Given the description of an element on the screen output the (x, y) to click on. 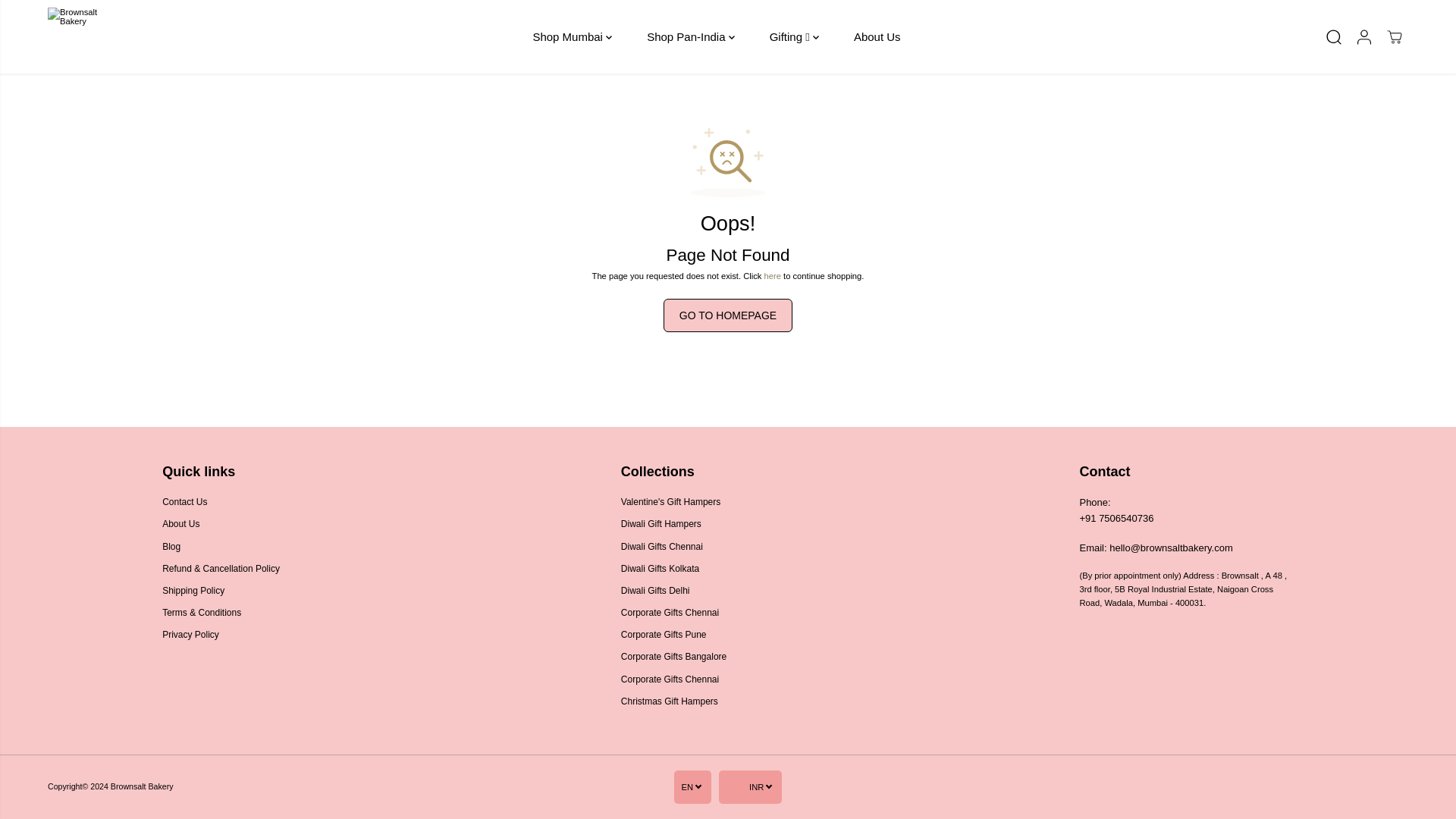
SKIP TO CONTENT (60, 18)
About Us (877, 36)
Cart (1393, 35)
Search (1334, 35)
Log in (1364, 35)
